Given the description of an element on the screen output the (x, y) to click on. 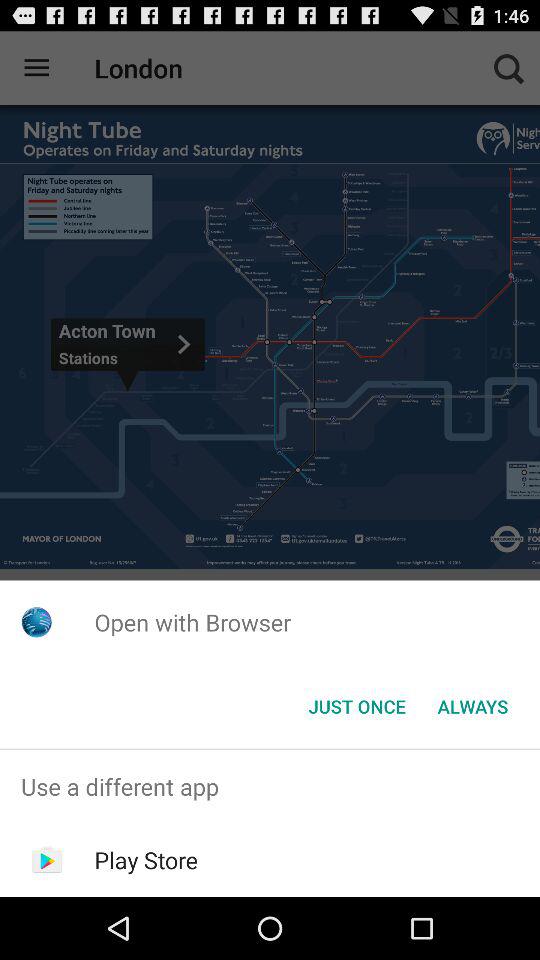
turn on the item next to always item (356, 706)
